Given the description of an element on the screen output the (x, y) to click on. 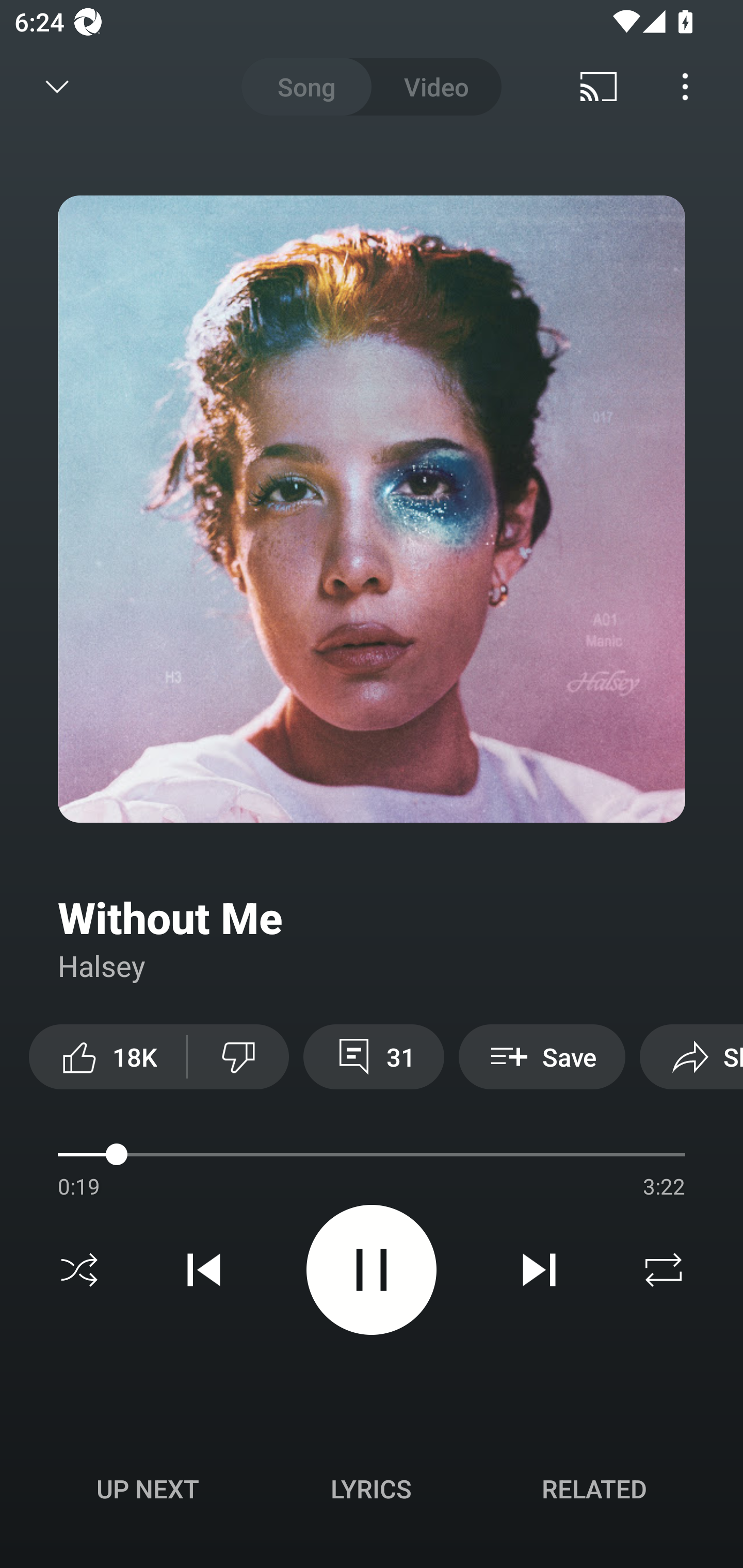
Minimize (57, 86)
Cast. Disconnected (598, 86)
Menu (684, 86)
18K like this video along with 18,871 other people (106, 1056)
Dislike (238, 1056)
31 View 31 comments (373, 1056)
Save Save to playlist (541, 1056)
Share (691, 1056)
Pause video (371, 1269)
Shuffle off (79, 1269)
Previous track (203, 1269)
Next track (538, 1269)
Repeat off (663, 1269)
Up next UP NEXT Lyrics LYRICS Related RELATED (371, 1491)
Lyrics LYRICS (370, 1488)
Related RELATED (594, 1488)
